Given the description of an element on the screen output the (x, y) to click on. 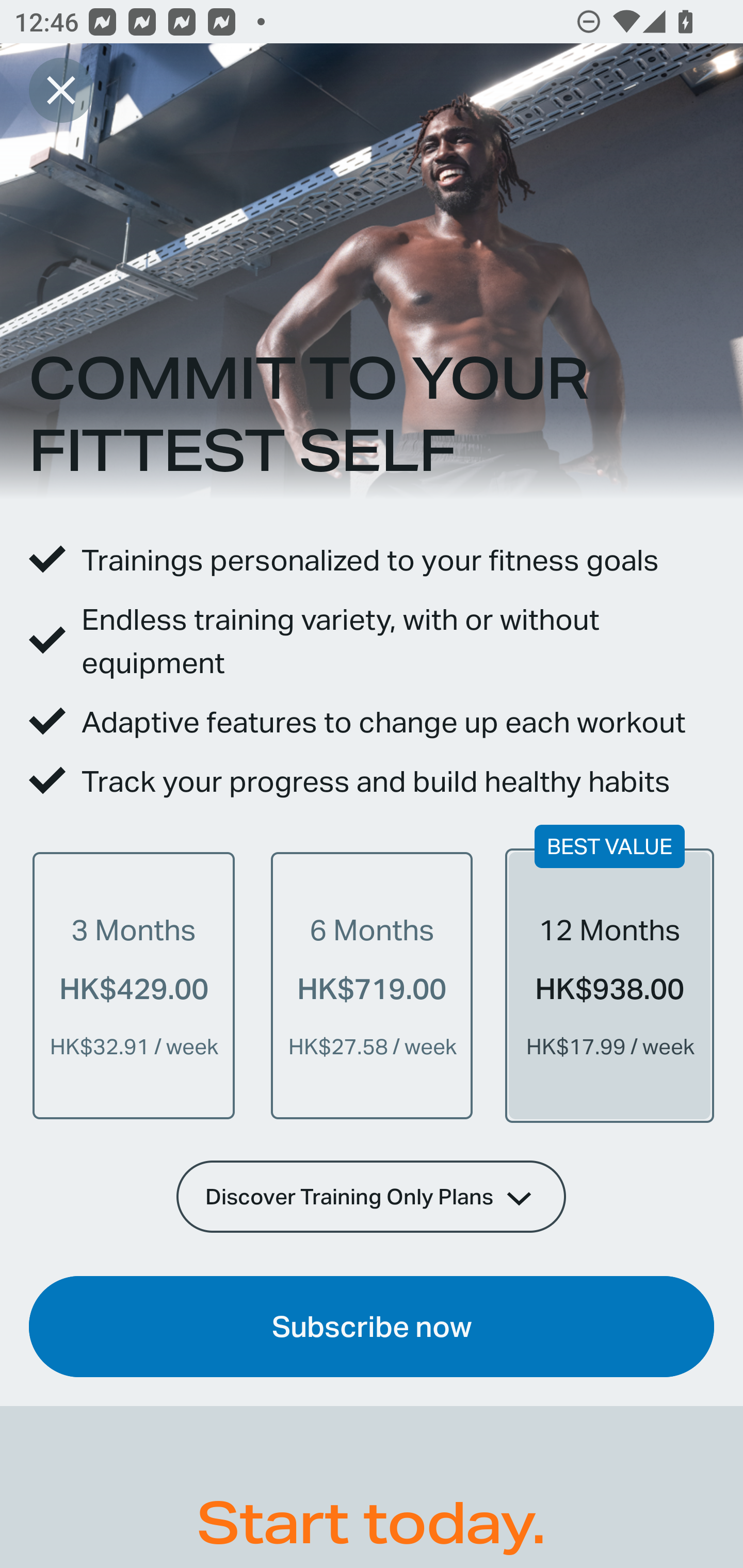
Close (60, 90)
3 Months HK$429.00 HK$32.91 / week (133, 985)
6 Months HK$719.00 HK$27.58 / week (371, 985)
12 Months HK$938.00 HK$17.99 / week (609, 985)
Discover Training Only Plans (371, 1196)
Subscribe now (371, 1326)
